Given the description of an element on the screen output the (x, y) to click on. 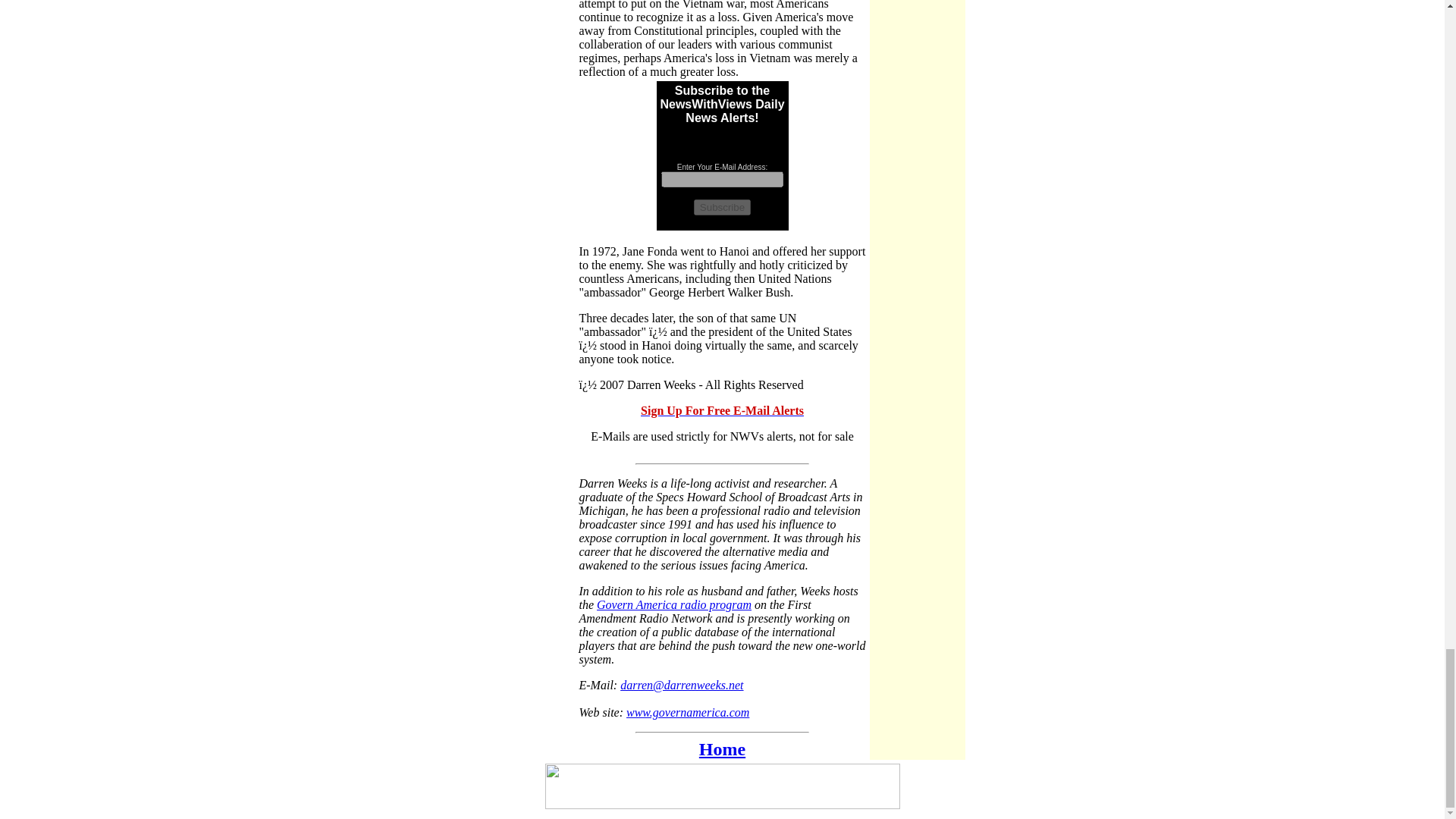
Sign Up For Free E-Mail Alerts (721, 410)
Govern America radio program (673, 604)
Subscribe (722, 207)
Home (721, 749)
www.governamerica.com (687, 712)
